Given the description of an element on the screen output the (x, y) to click on. 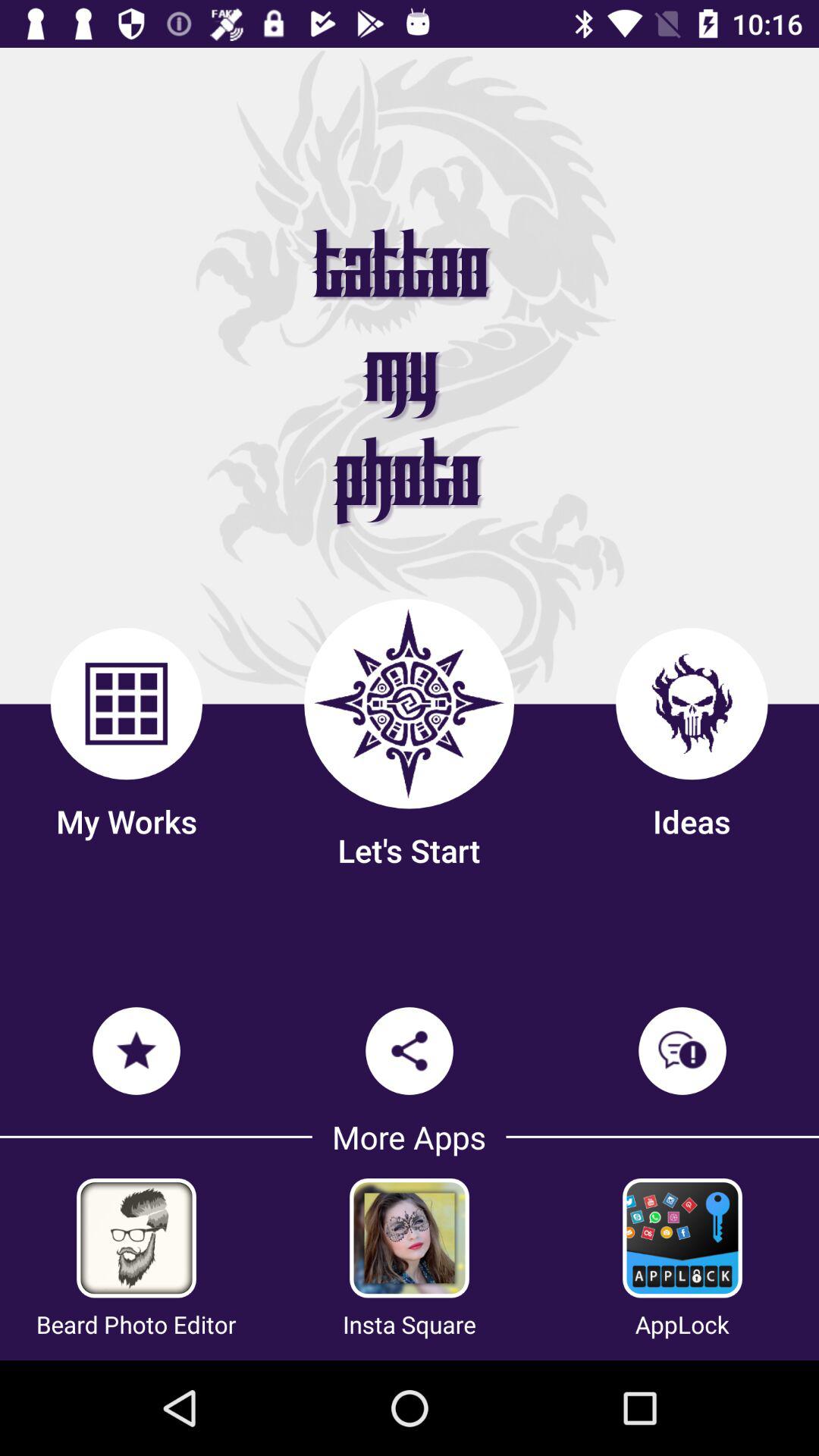
click on applock (682, 1237)
select the third icon above ideas (691, 702)
click on the option above lets start (408, 703)
click on the icon which is above the my works option (126, 702)
select the image of beard photo editor on the page (136, 1237)
